Given the description of an element on the screen output the (x, y) to click on. 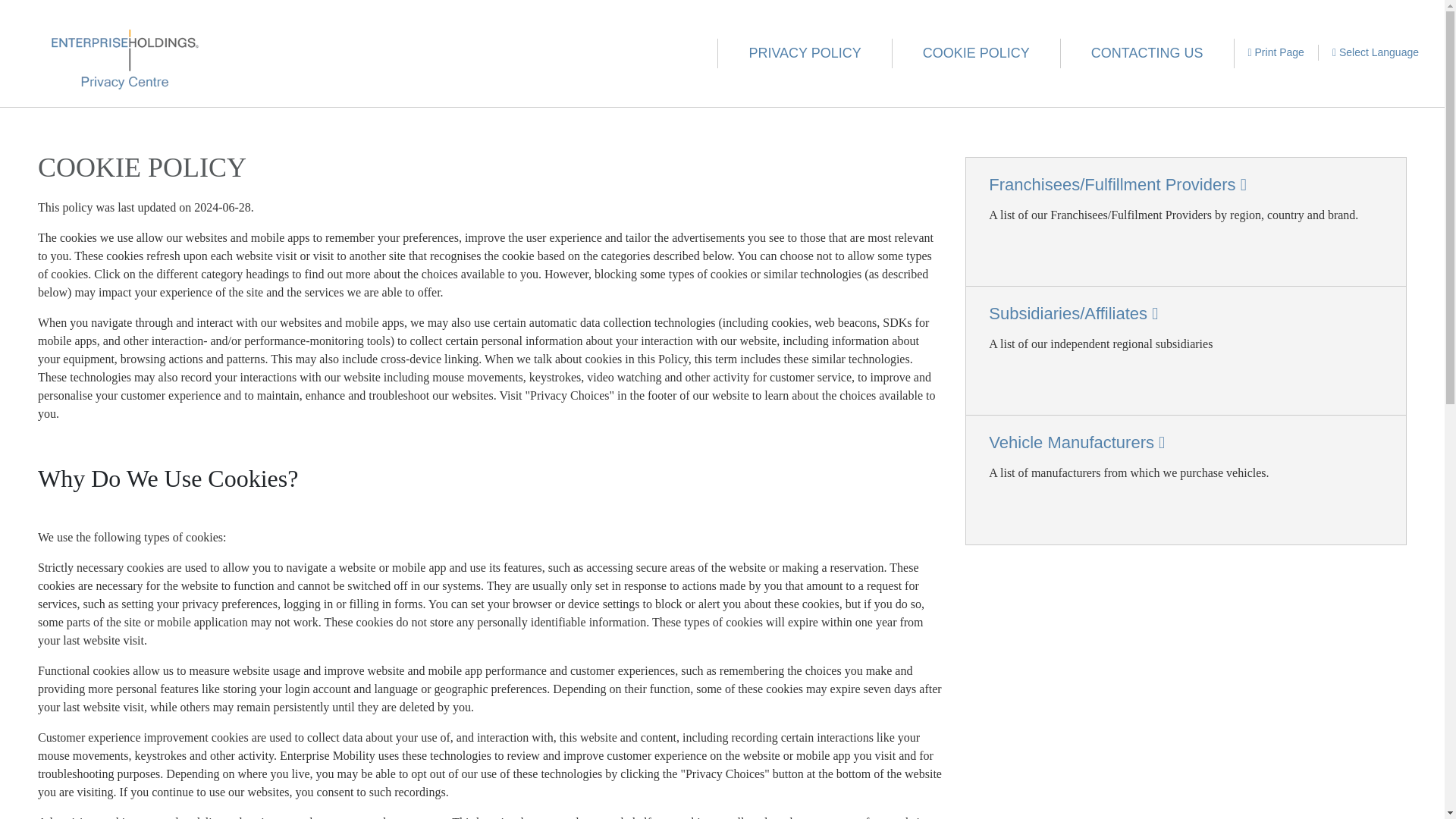
CONTACTING US (1147, 52)
Select Language (1375, 52)
Print Page (1276, 52)
PRIVACY POLICY (804, 52)
COOKIE POLICY (976, 52)
